Given the description of an element on the screen output the (x, y) to click on. 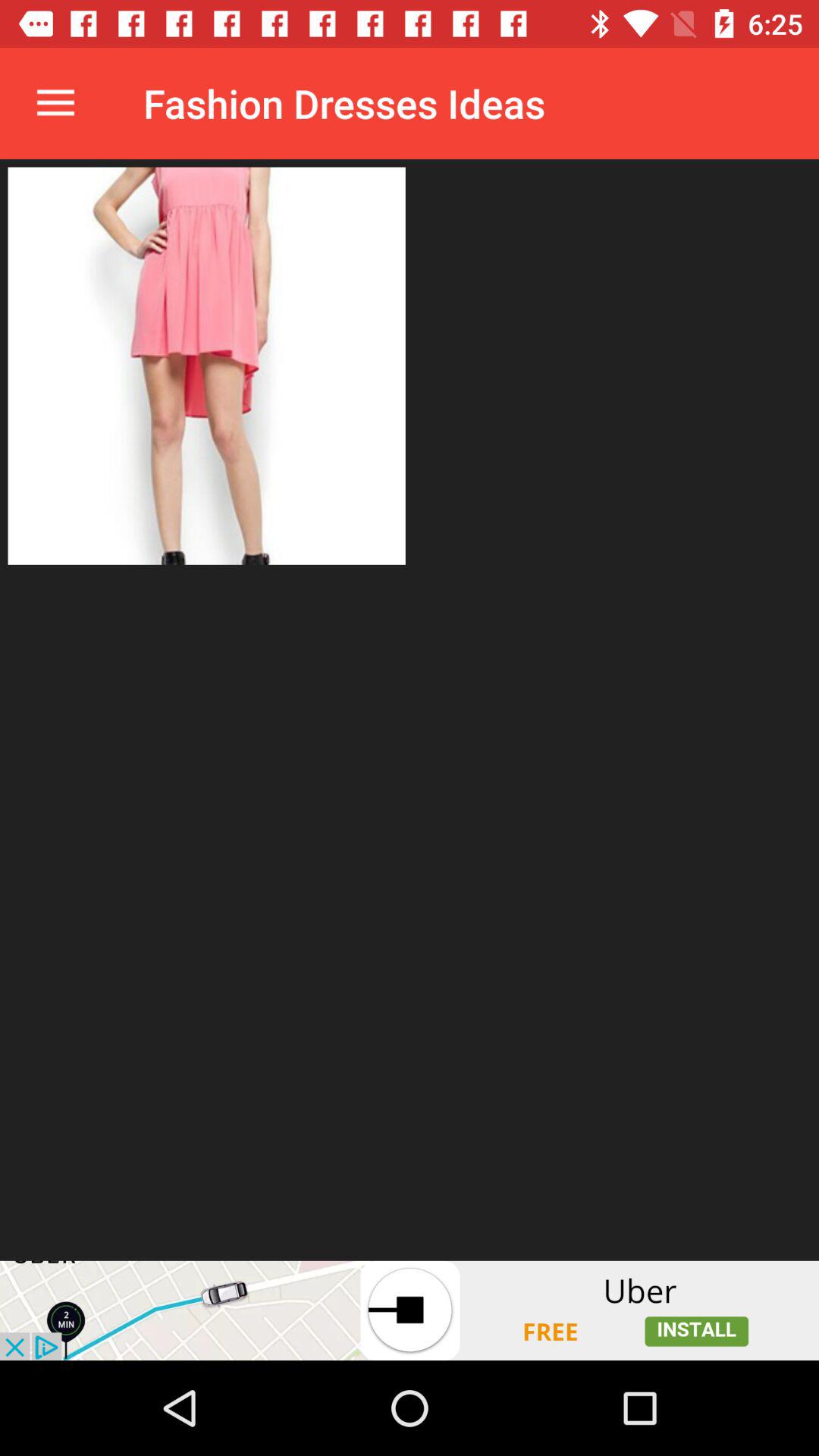
go to advertisement website (409, 1310)
